Given the description of an element on the screen output the (x, y) to click on. 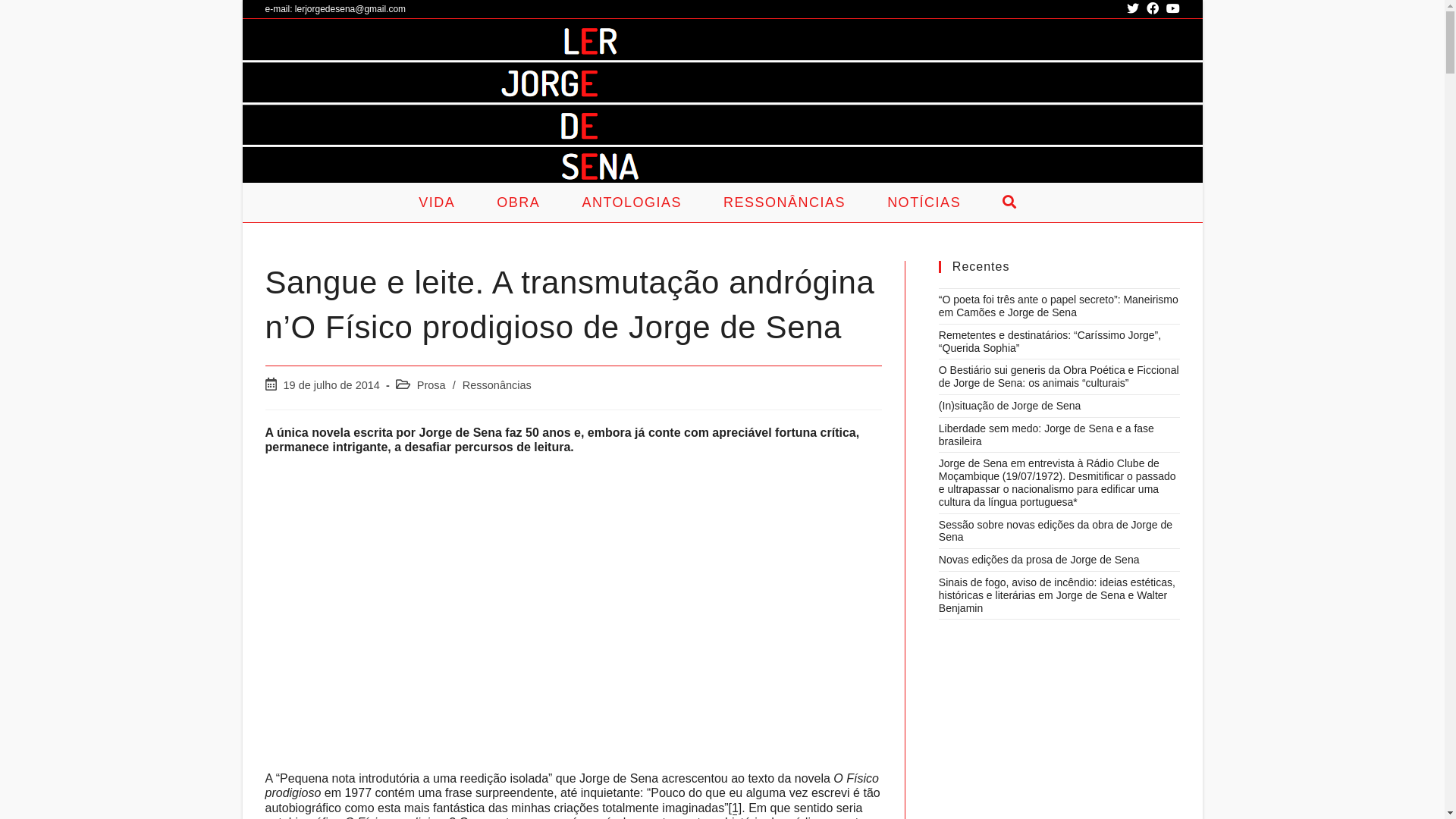
[1] Element type: text (734, 807)
Liberdade sem medo: Jorge de Sena e a fase brasileira Element type: text (1046, 434)
TOGGLE WEBSITE SEARCH Element type: text (1013, 202)
VIDA Element type: text (440, 202)
OBRA Element type: text (522, 202)
Prosa Element type: text (431, 385)
ANTOLOGIAS Element type: text (635, 202)
Ler Jorge de Sena Element type: text (492, 104)
